Given the description of an element on the screen output the (x, y) to click on. 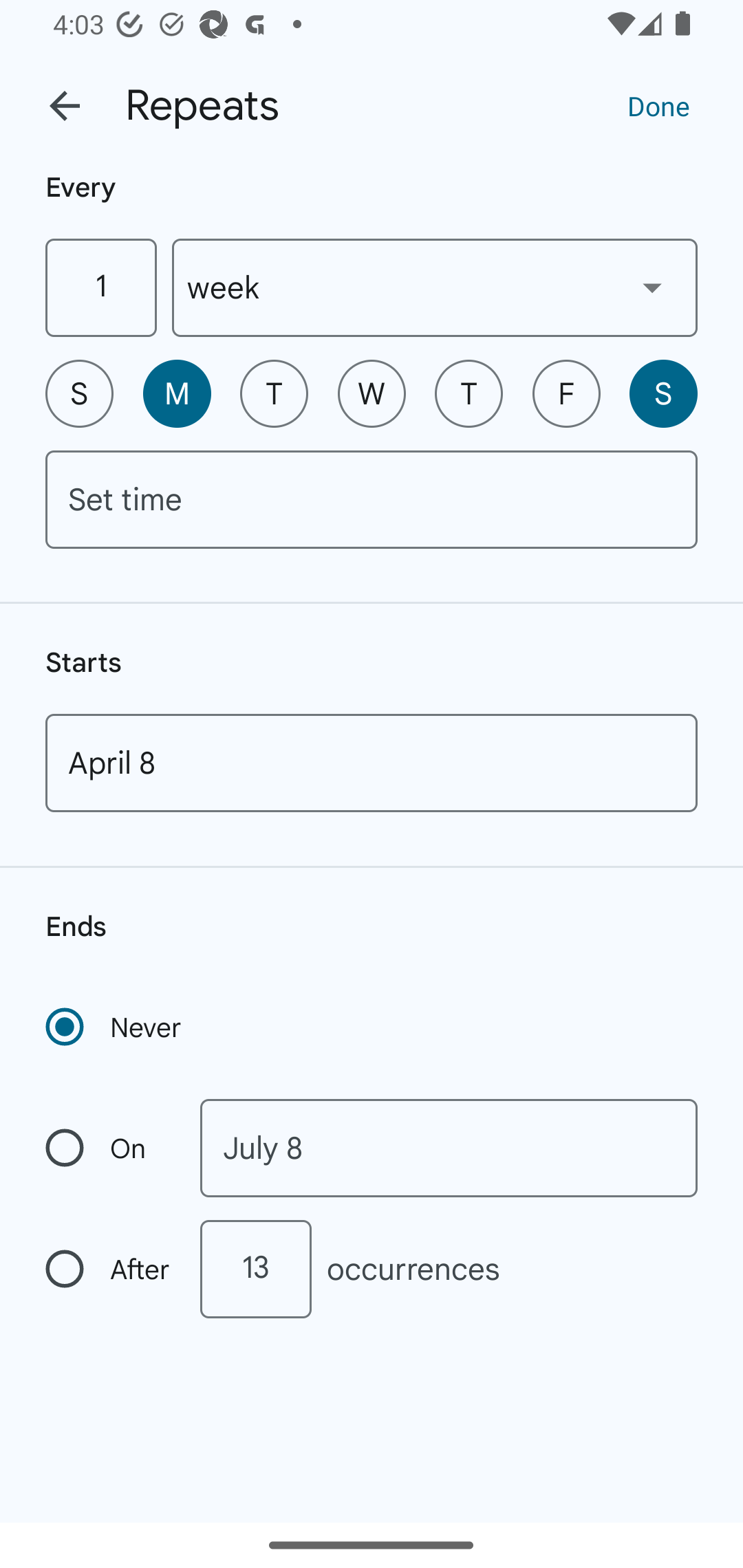
Back (64, 105)
Done (658, 105)
1 (100, 287)
week (434, 287)
Show dropdown menu (652, 286)
S Sunday (79, 393)
M Monday, selected (177, 393)
T Tuesday (273, 393)
W Wednesday (371, 393)
T Thursday (468, 393)
F Friday (566, 393)
S Saturday, selected (663, 393)
Set time (371, 499)
April 8 (371, 762)
Never Recurrence never ends (115, 1026)
July 8 (448, 1148)
On Recurrence ends on a specific date (109, 1148)
13 (255, 1268)
